Given the description of an element on the screen output the (x, y) to click on. 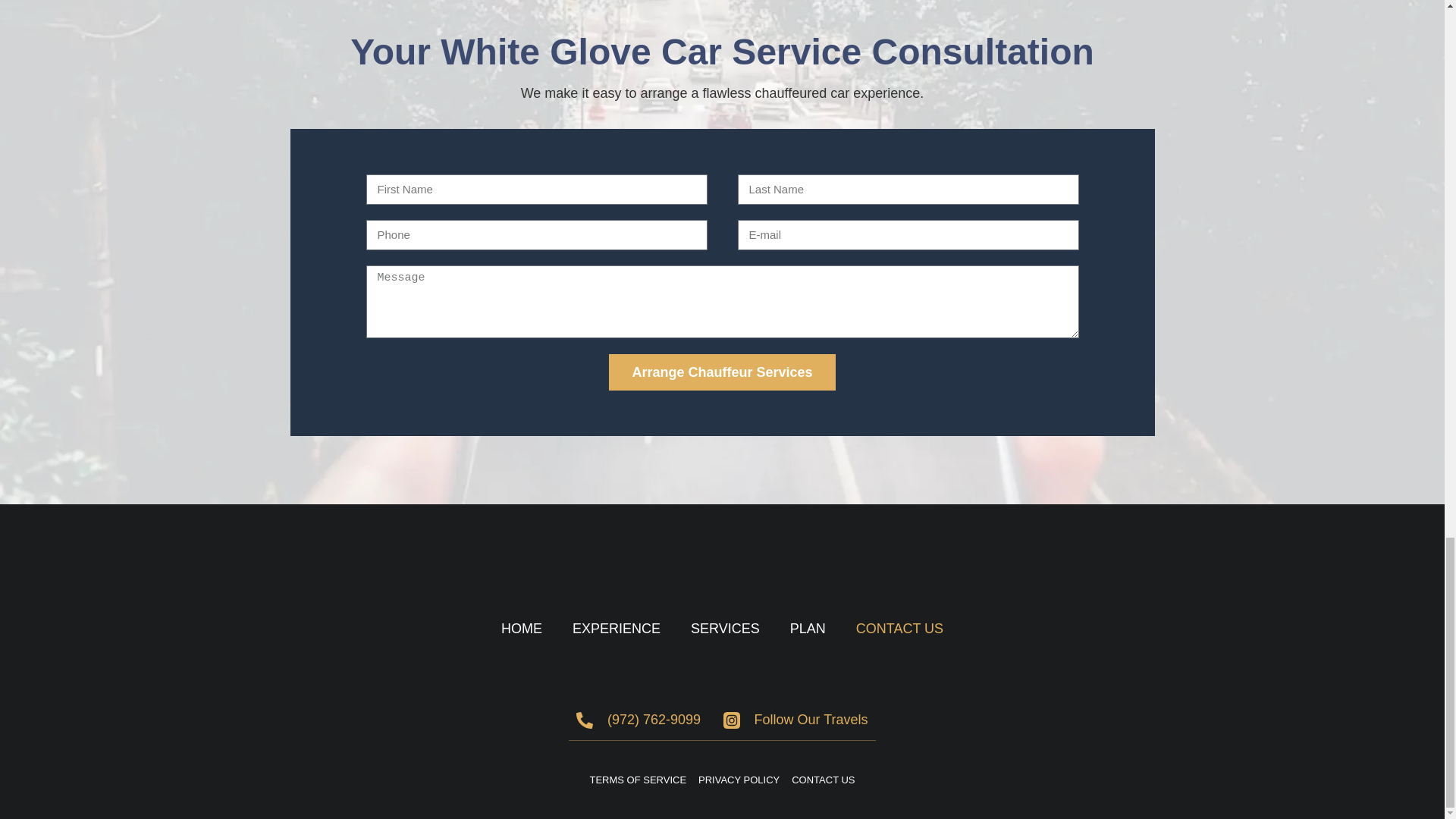
CONTACT US (899, 628)
TERMS OF SERVICE (637, 779)
SERVICES (724, 628)
CONTACT US (823, 779)
PLAN (807, 628)
EXPERIENCE (616, 628)
PRIVACY POLICY (738, 779)
HOME (521, 628)
Follow Our Travels (795, 719)
Arrange Chauffeur Services (721, 371)
